Given the description of an element on the screen output the (x, y) to click on. 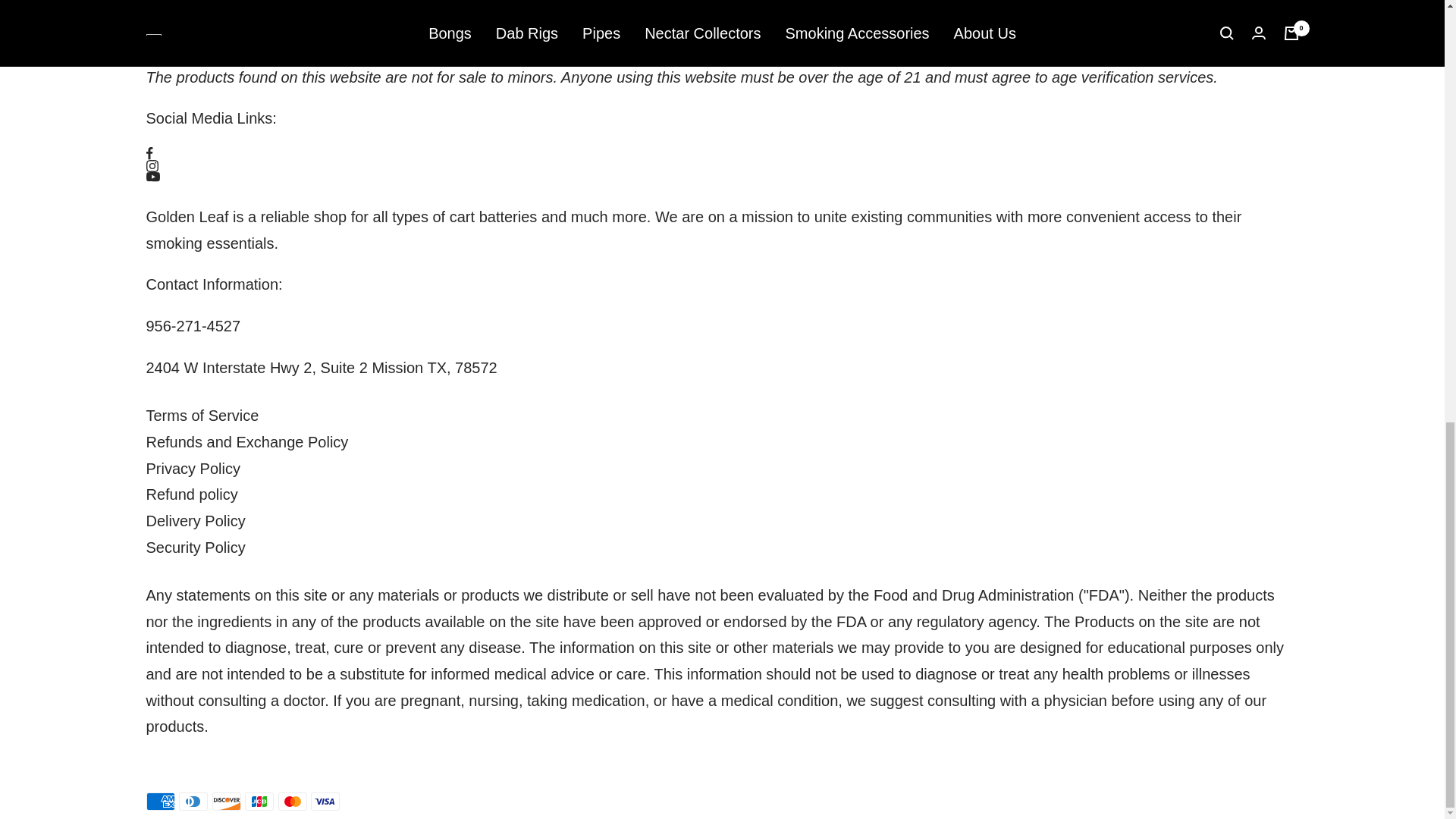
Diners Club (193, 801)
Register (434, 26)
Mastercard (292, 801)
JCB (258, 801)
Discover (226, 801)
Visa (325, 801)
American Express (159, 801)
Cart Batteries (493, 216)
